Given the description of an element on the screen output the (x, y) to click on. 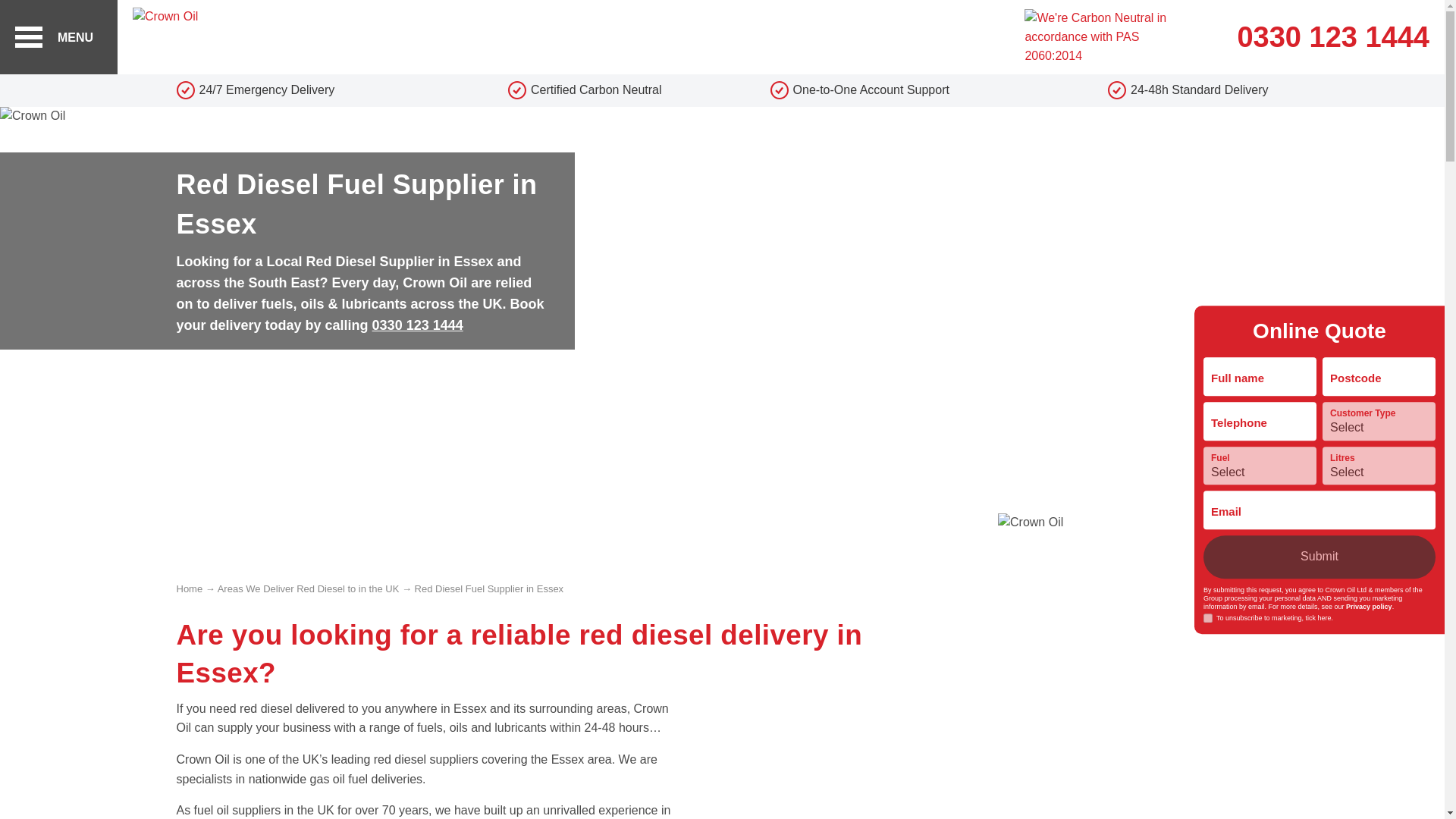
One-to-One Account Support (860, 90)
MENU (58, 37)
Certified Carbon Neutral (585, 90)
on (1208, 618)
24-48h Standard Delivery (1134, 90)
